Given the description of an element on the screen output the (x, y) to click on. 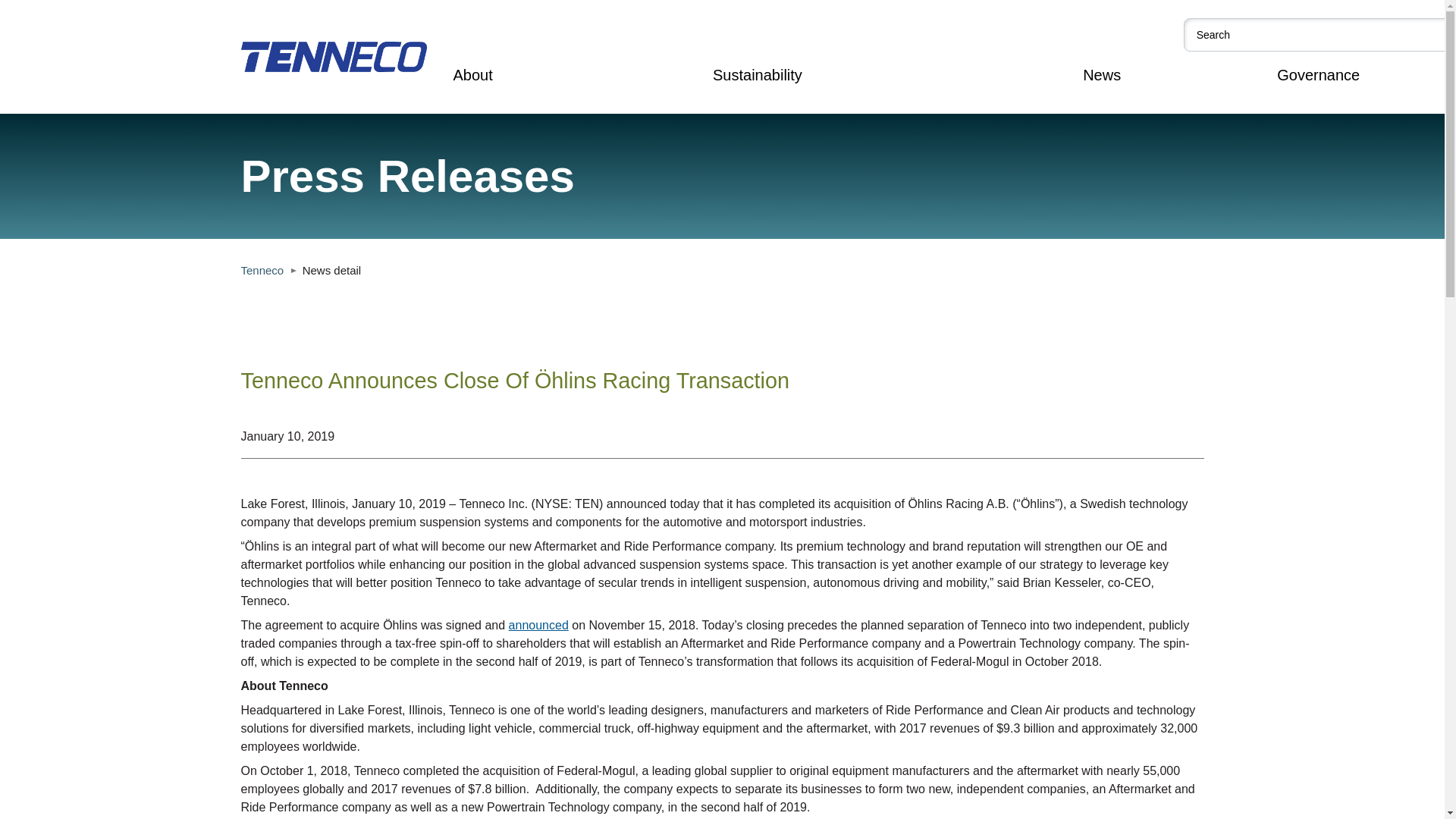
About (472, 75)
Sustainability (757, 75)
Tenneco (262, 269)
News (1102, 75)
announced (538, 625)
Governance (1317, 75)
